Given the description of an element on the screen output the (x, y) to click on. 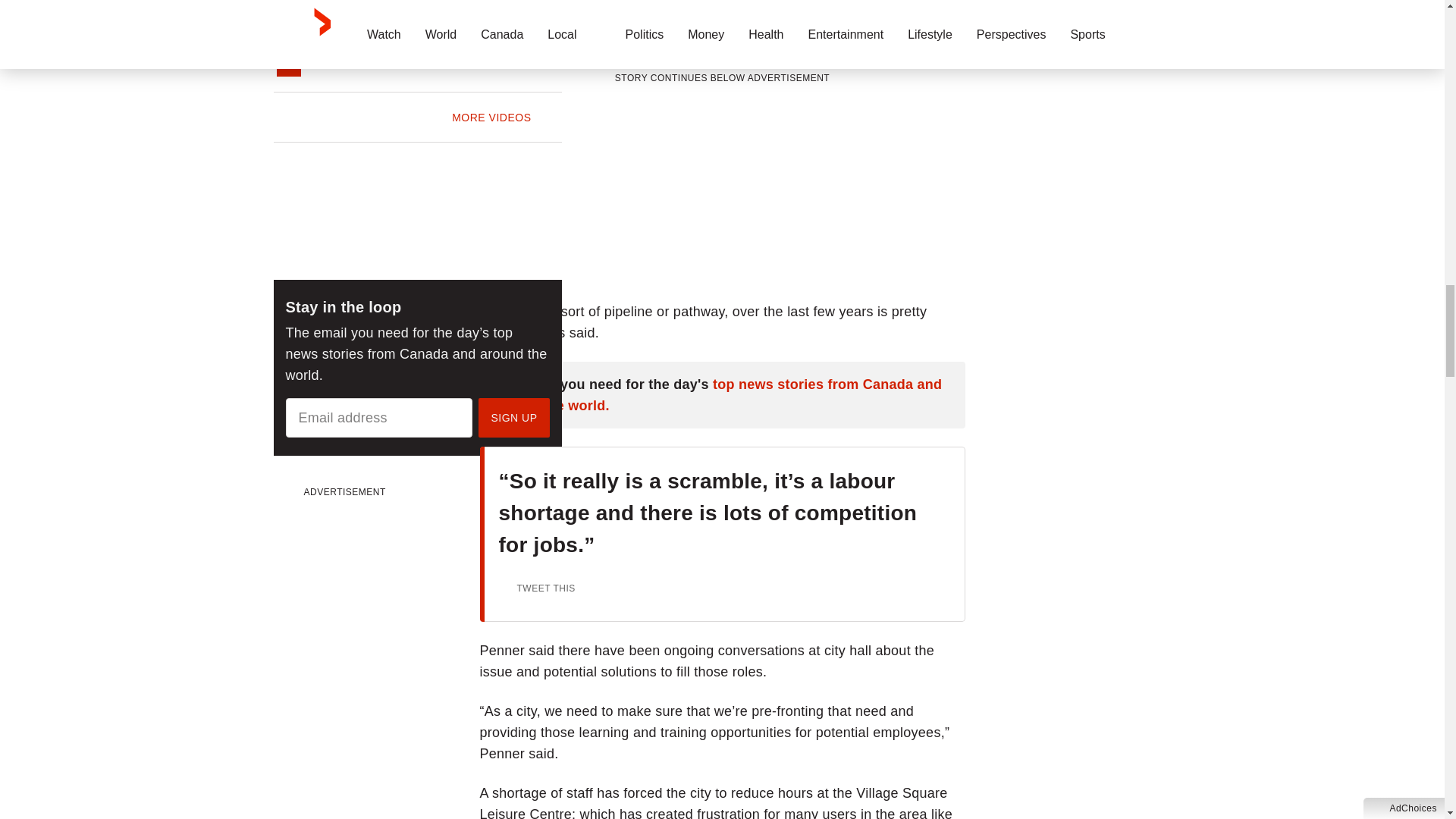
Landslide threatens salmon run (480, 21)
